Given the description of an element on the screen output the (x, y) to click on. 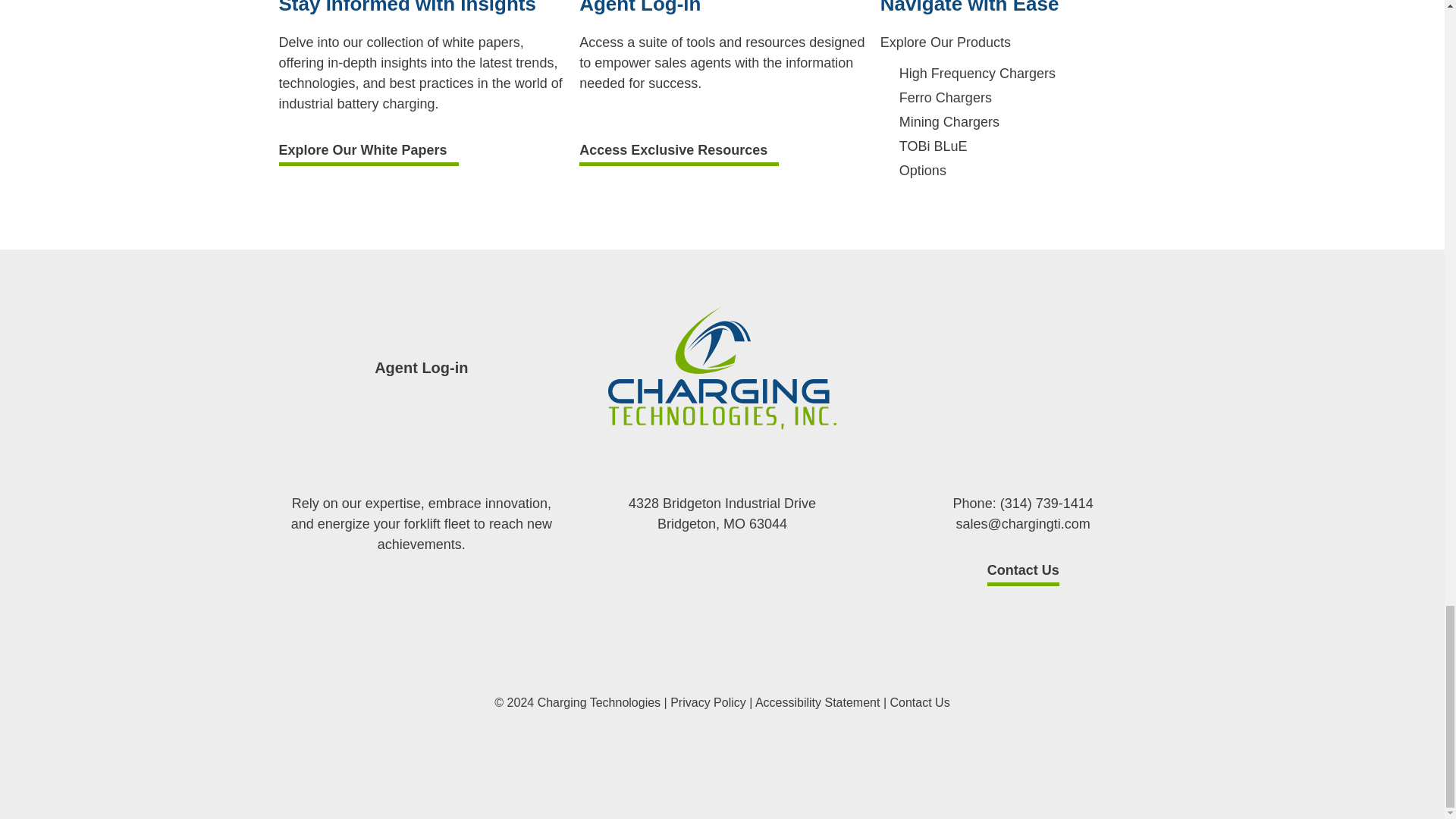
Ferro Chargers (945, 97)
Explore Our White Papers (368, 154)
Access Exclusive Resources (678, 154)
High Frequency Chargers (977, 73)
